Given the description of an element on the screen output the (x, y) to click on. 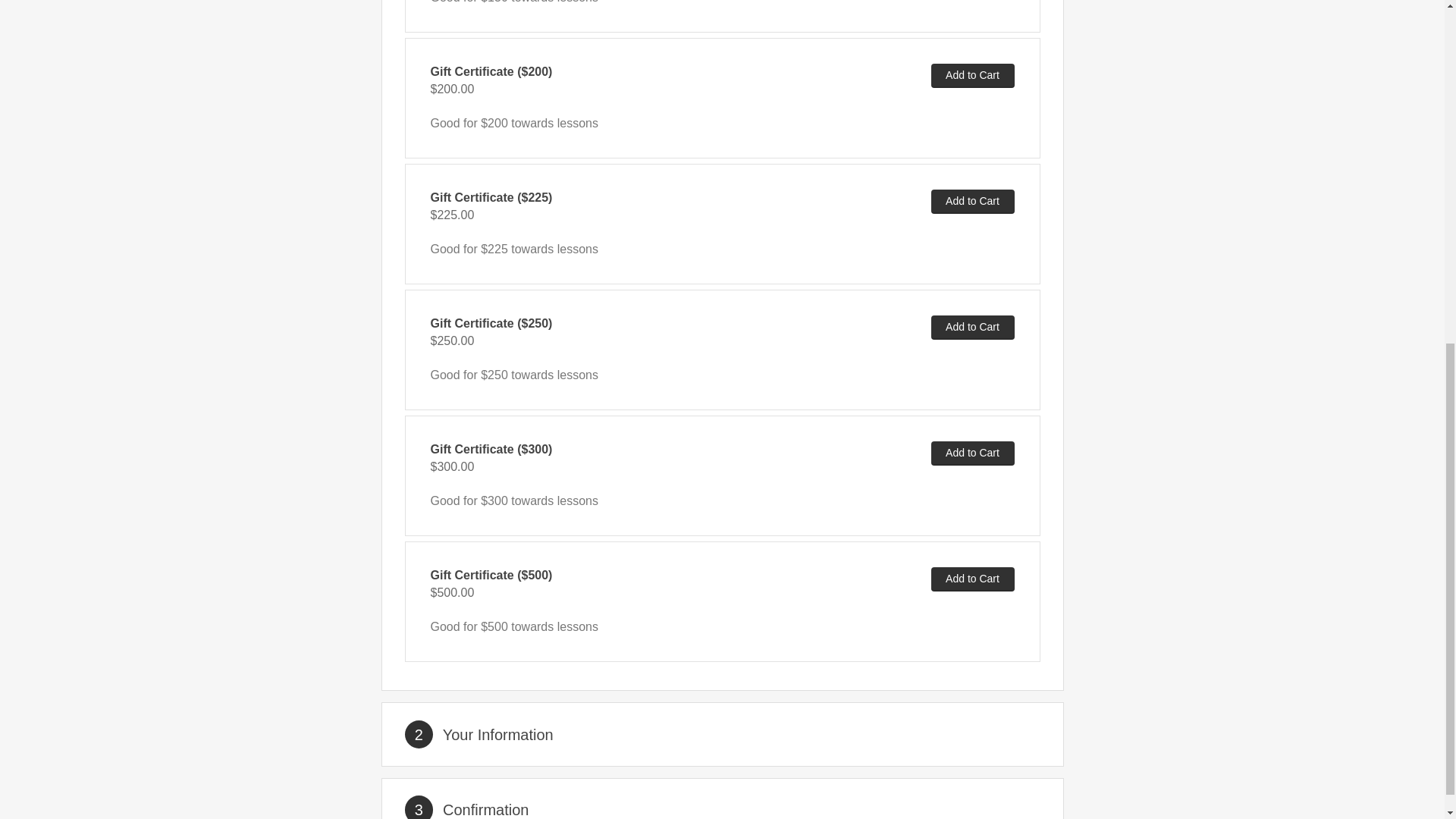
Add to Cart (972, 453)
Add to Cart (972, 327)
Add to Cart (972, 201)
Add to Cart (972, 579)
Add to Cart (972, 75)
